Given the description of an element on the screen output the (x, y) to click on. 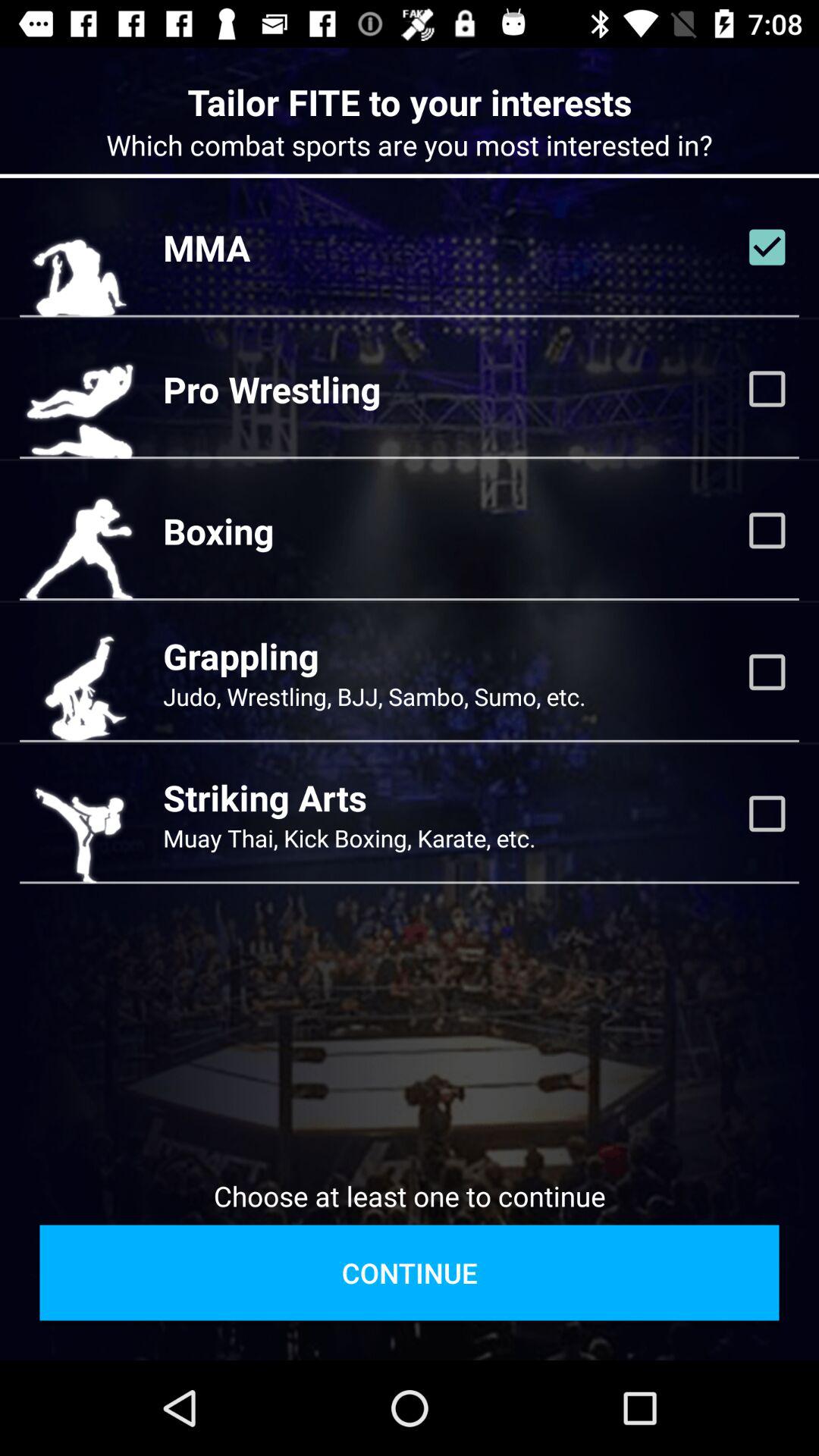
flip until judo wrestling bjj item (374, 696)
